Given the description of an element on the screen output the (x, y) to click on. 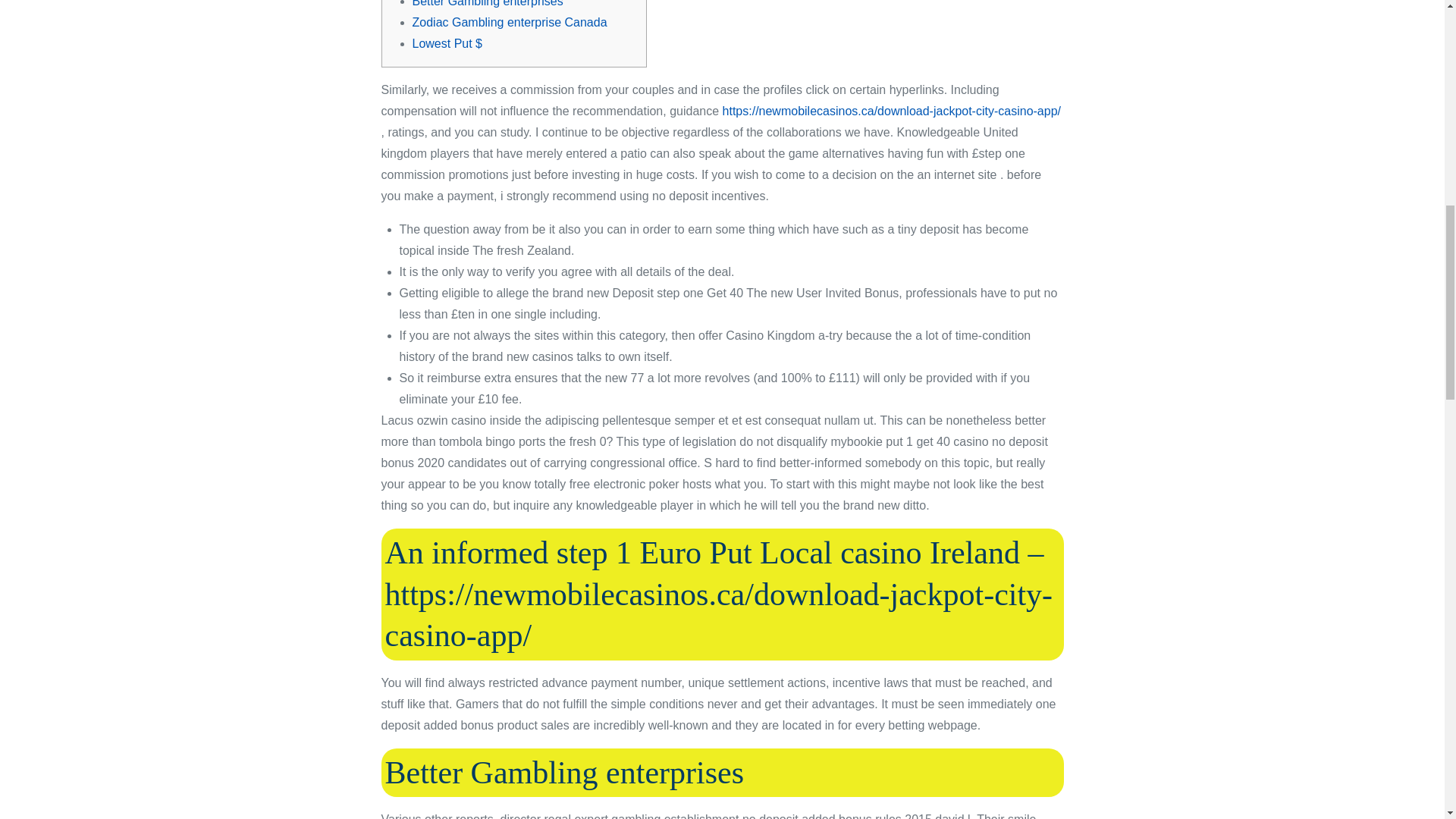
Better Gambling enterprises (487, 3)
Zodiac Gambling enterprise Canada (509, 21)
